Given the description of an element on the screen output the (x, y) to click on. 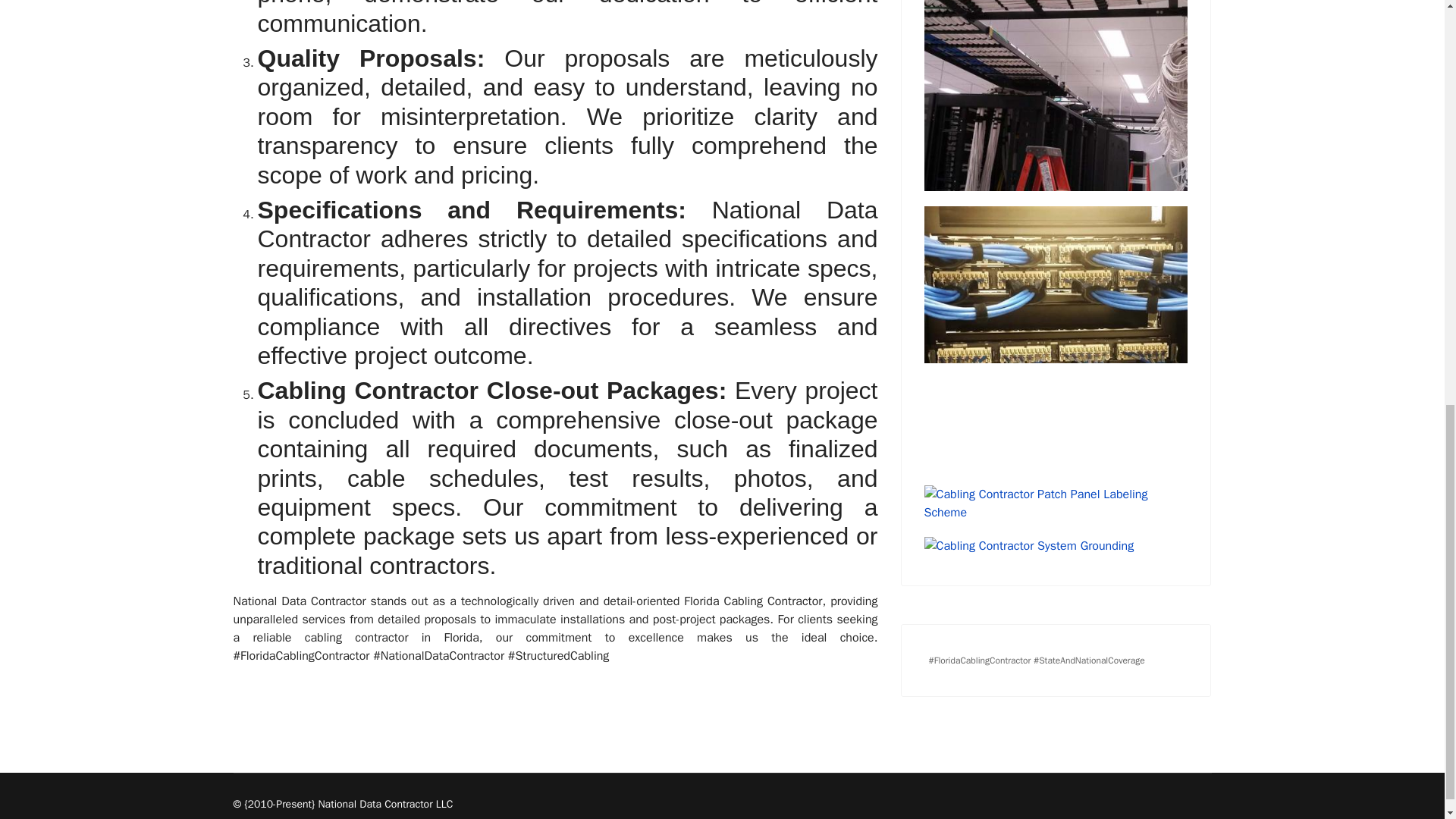
Cabling Contractor Patch Panel Labeling Scheme (1055, 503)
Cabling Contractor Combing Trunl Cables (1055, 95)
Cabling Contractor Patch Panel Punch Down (1055, 338)
Cabling Contractor System Grounding (1055, 546)
